Given the description of an element on the screen output the (x, y) to click on. 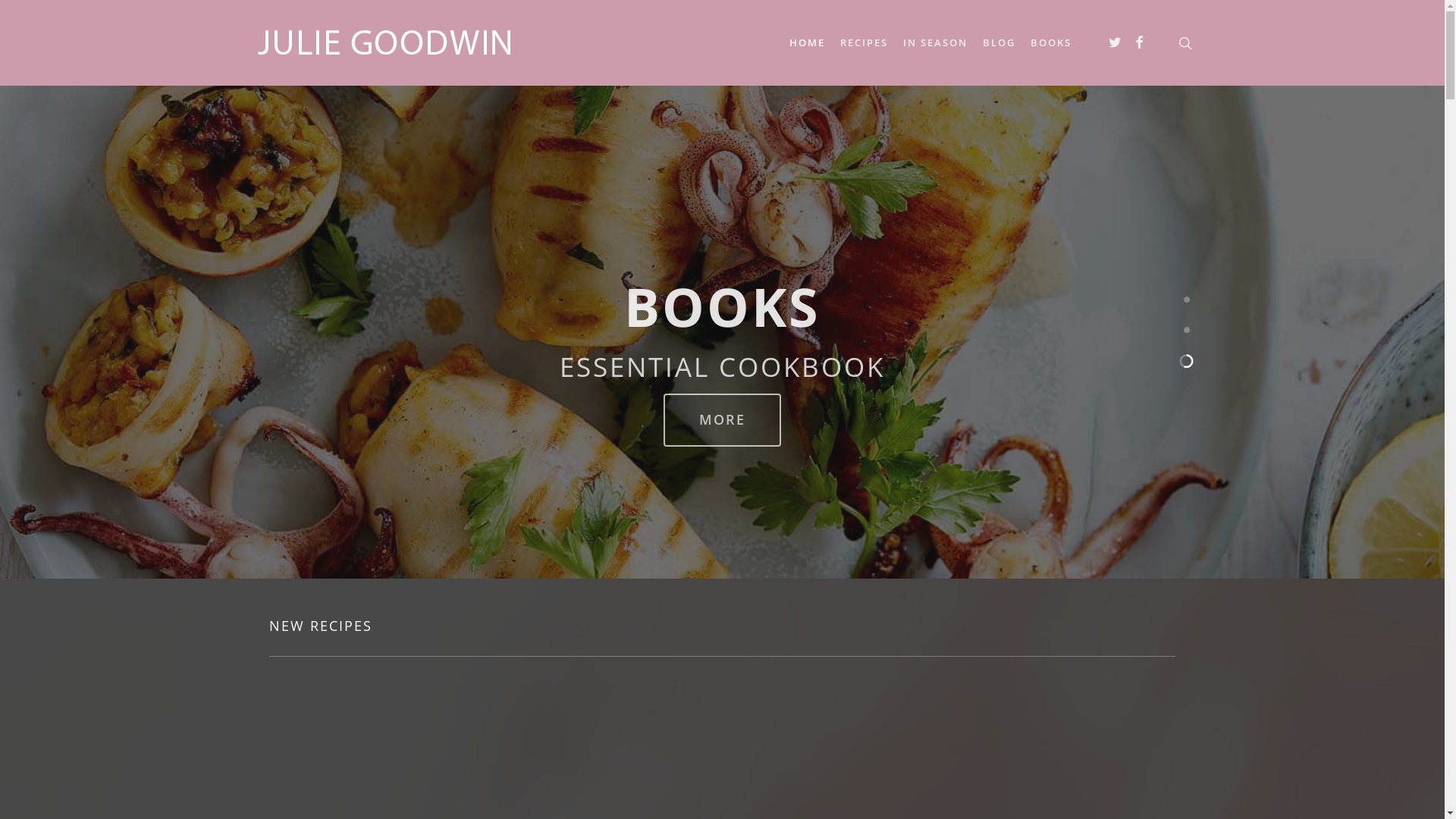
BOOKS Element type: text (1050, 42)
IN SEASON Element type: text (935, 42)
RECIPES Element type: text (863, 42)
search Element type: text (1185, 42)
MORE Element type: text (722, 419)
TWITTER Element type: text (1115, 42)
BLOG Element type: text (998, 42)
FACEBOOK Element type: text (1139, 42)
HOME Element type: text (806, 42)
